Given the description of an element on the screen output the (x, y) to click on. 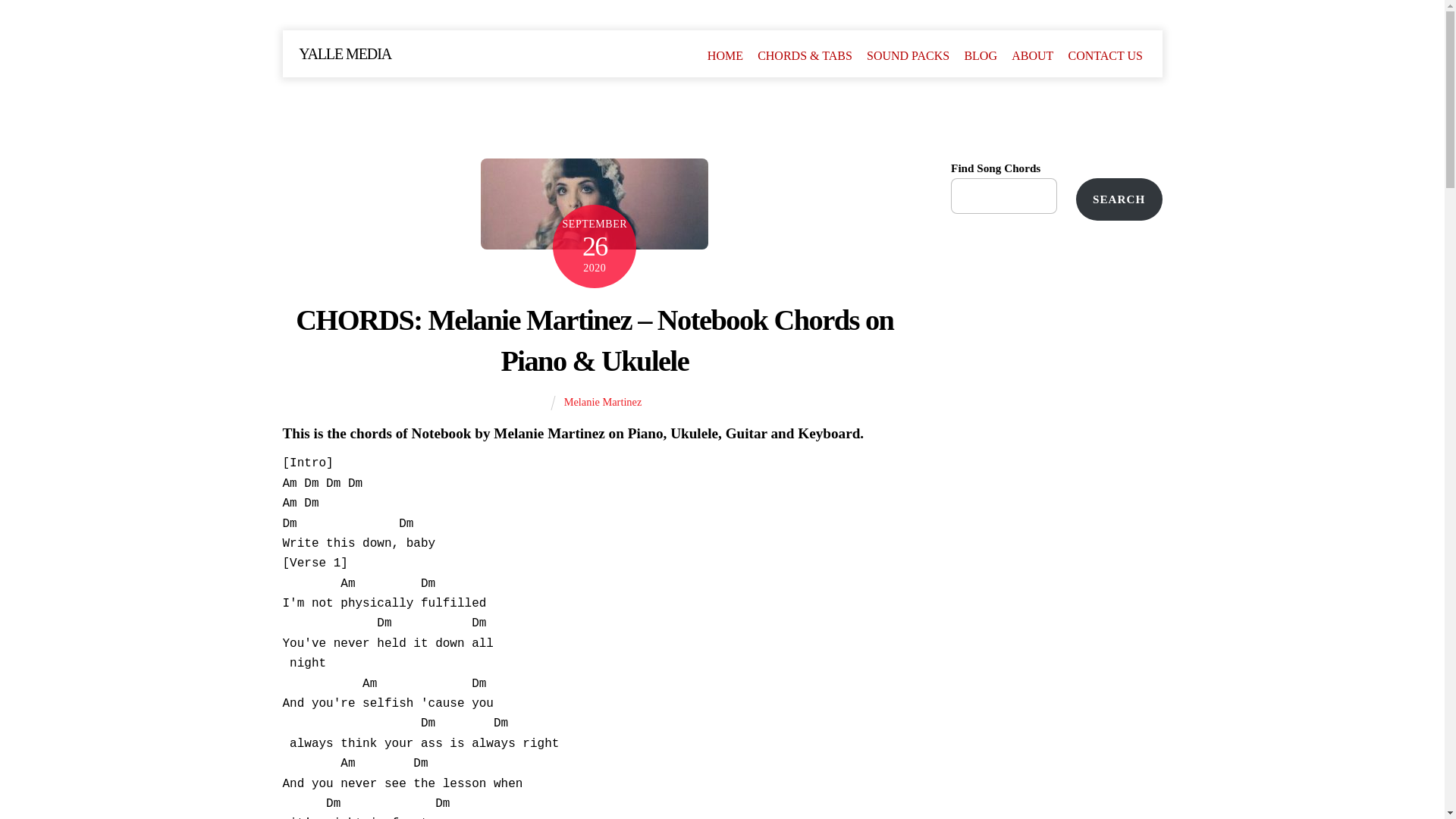
BLOG (980, 55)
Melanie Martinez yallemedia.com chord (593, 203)
ABOUT (1032, 55)
CONTACT US (1105, 55)
YALLE MEDIA (344, 53)
SOUND PACKS (907, 55)
Yalle Media (344, 53)
Melanie Martinez (603, 401)
HOME (724, 55)
SEARCH (1118, 199)
